Given the description of an element on the screen output the (x, y) to click on. 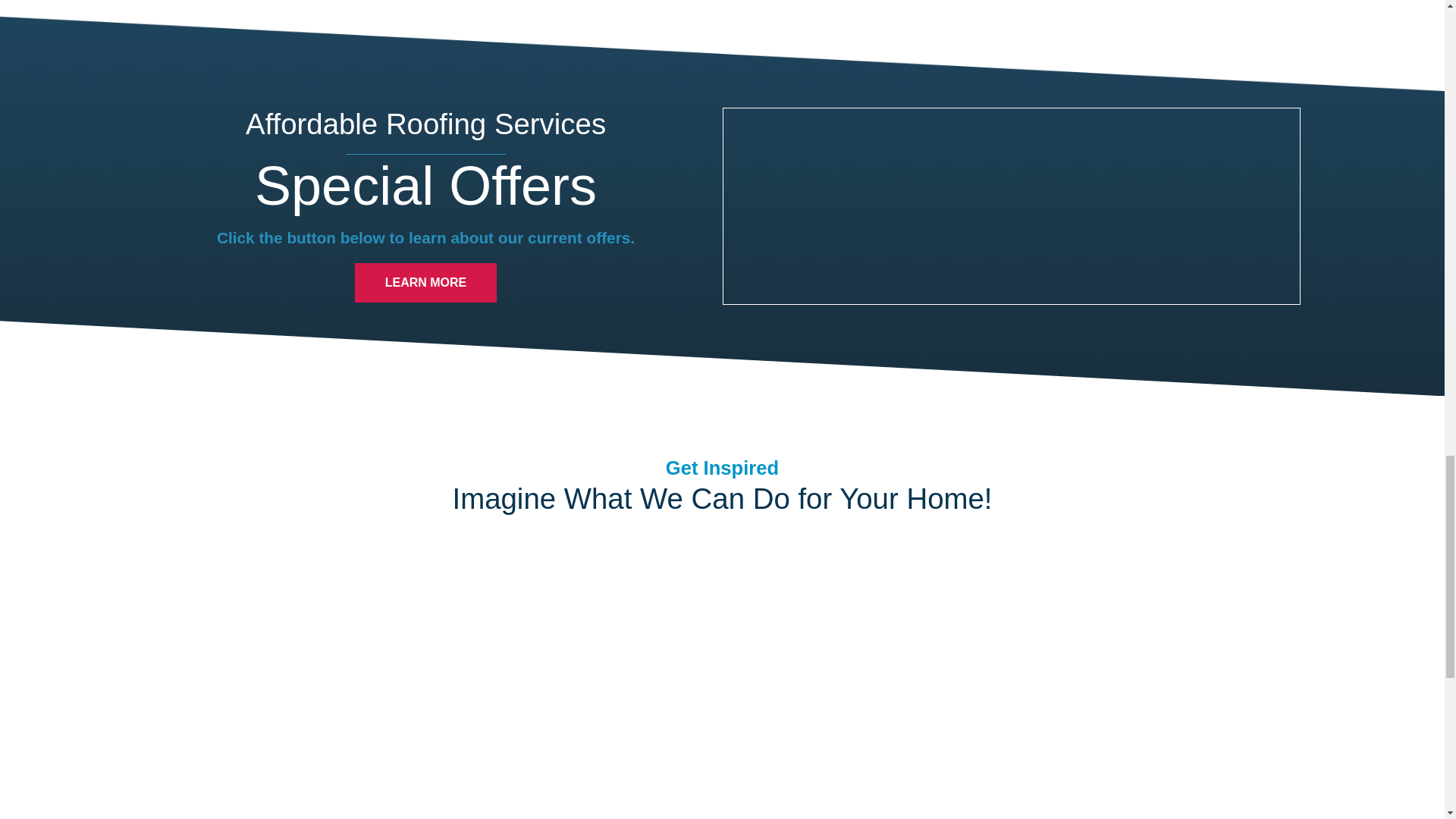
LEARN MORE (425, 282)
Gallery Image (423, 775)
Gallery Image (573, 638)
Gallery Image (273, 638)
